Given the description of an element on the screen output the (x, y) to click on. 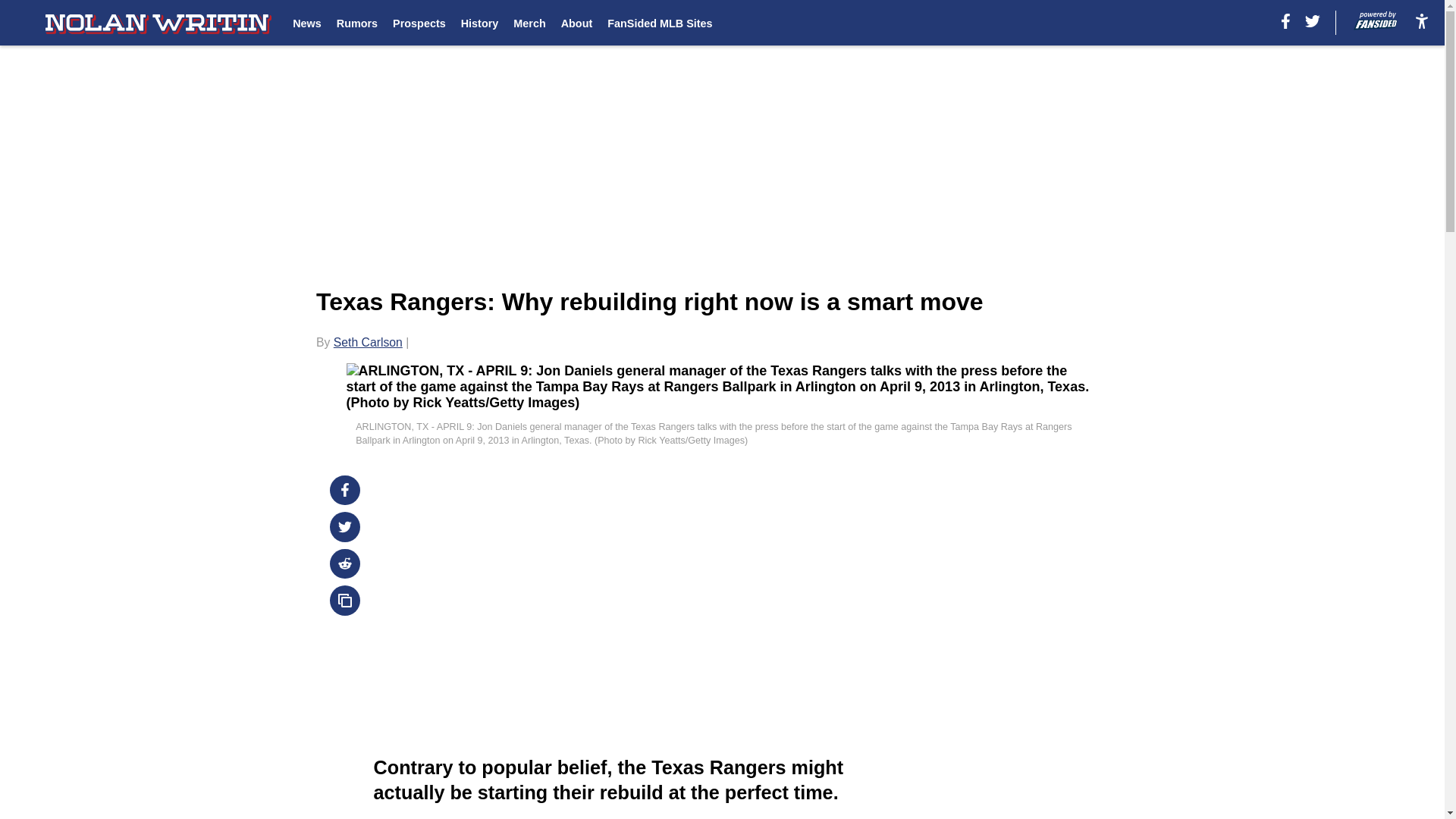
History (480, 23)
Prospects (419, 23)
Rumors (356, 23)
FanSided MLB Sites (659, 23)
About (576, 23)
News (306, 23)
Merch (528, 23)
Seth Carlson (368, 341)
